Given the description of an element on the screen output the (x, y) to click on. 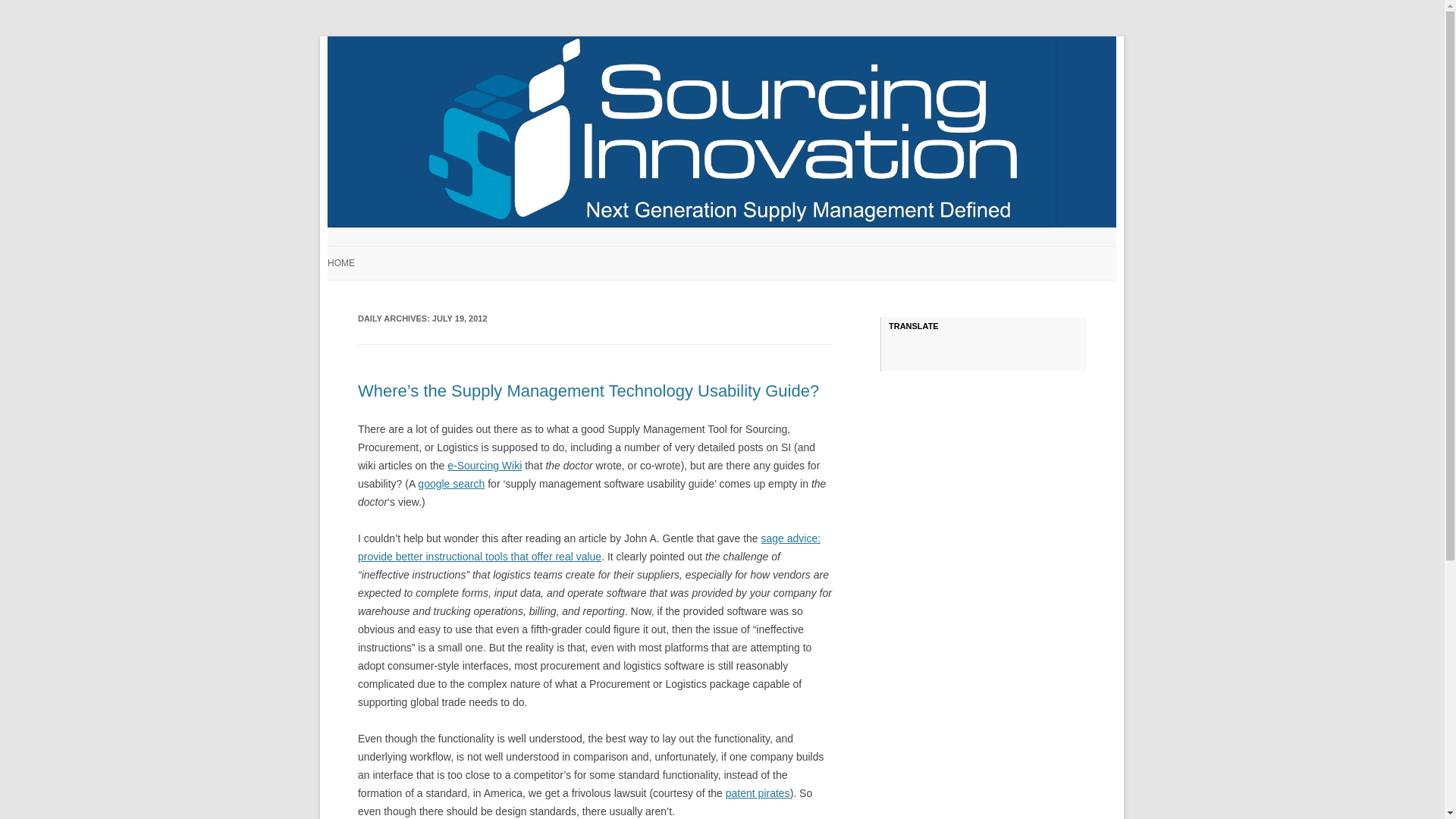
e-Sourcing Wiki (483, 465)
google search (450, 483)
Skip to content (757, 250)
Skip to content (757, 250)
patent pirates (757, 793)
